Given the description of an element on the screen output the (x, y) to click on. 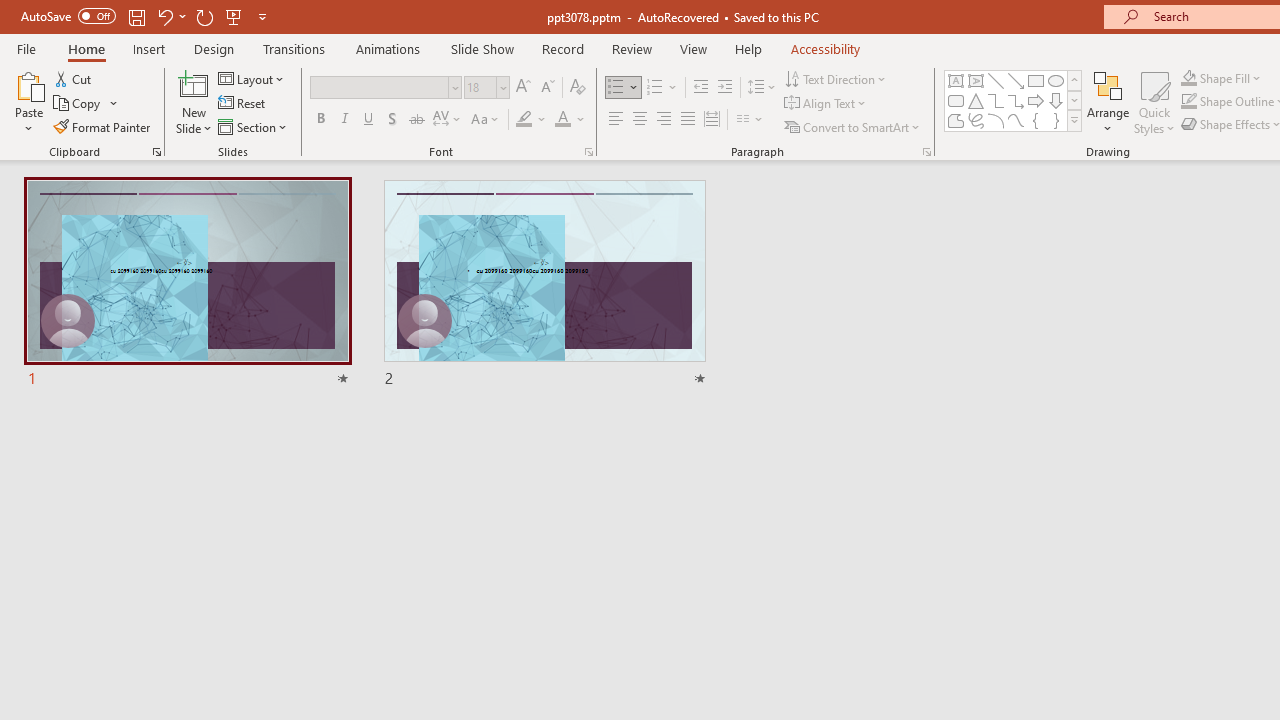
Text Highlight Color Yellow (524, 119)
Text Direction (836, 78)
Distributed (712, 119)
Decrease Font Size (547, 87)
AutomationID: ShapesInsertGallery (1014, 100)
Line Arrow (1016, 80)
Isosceles Triangle (975, 100)
Align Text (826, 103)
Justify (687, 119)
